Given the description of an element on the screen output the (x, y) to click on. 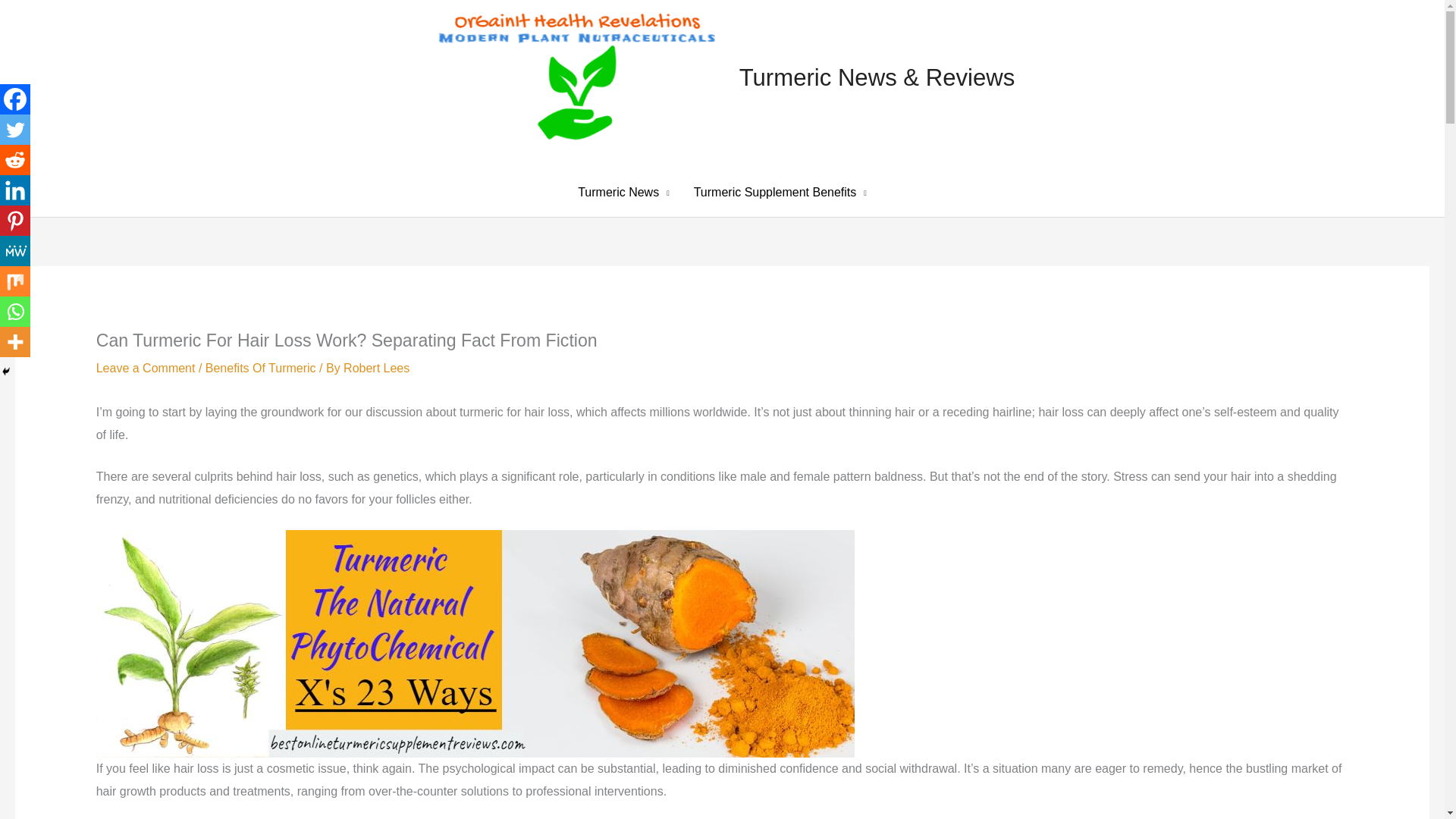
Twitter (15, 129)
Benefits Of Turmeric (260, 367)
Robert Lees (376, 367)
Turmeric News (623, 192)
Linkedin (15, 190)
Turmeric Supplement Benefits (780, 192)
Pinterest (15, 220)
Facebook (15, 99)
MeWe (15, 250)
Reddit (15, 159)
View all posts by Robert Lees (376, 367)
Leave a Comment (145, 367)
